Given the description of an element on the screen output the (x, y) to click on. 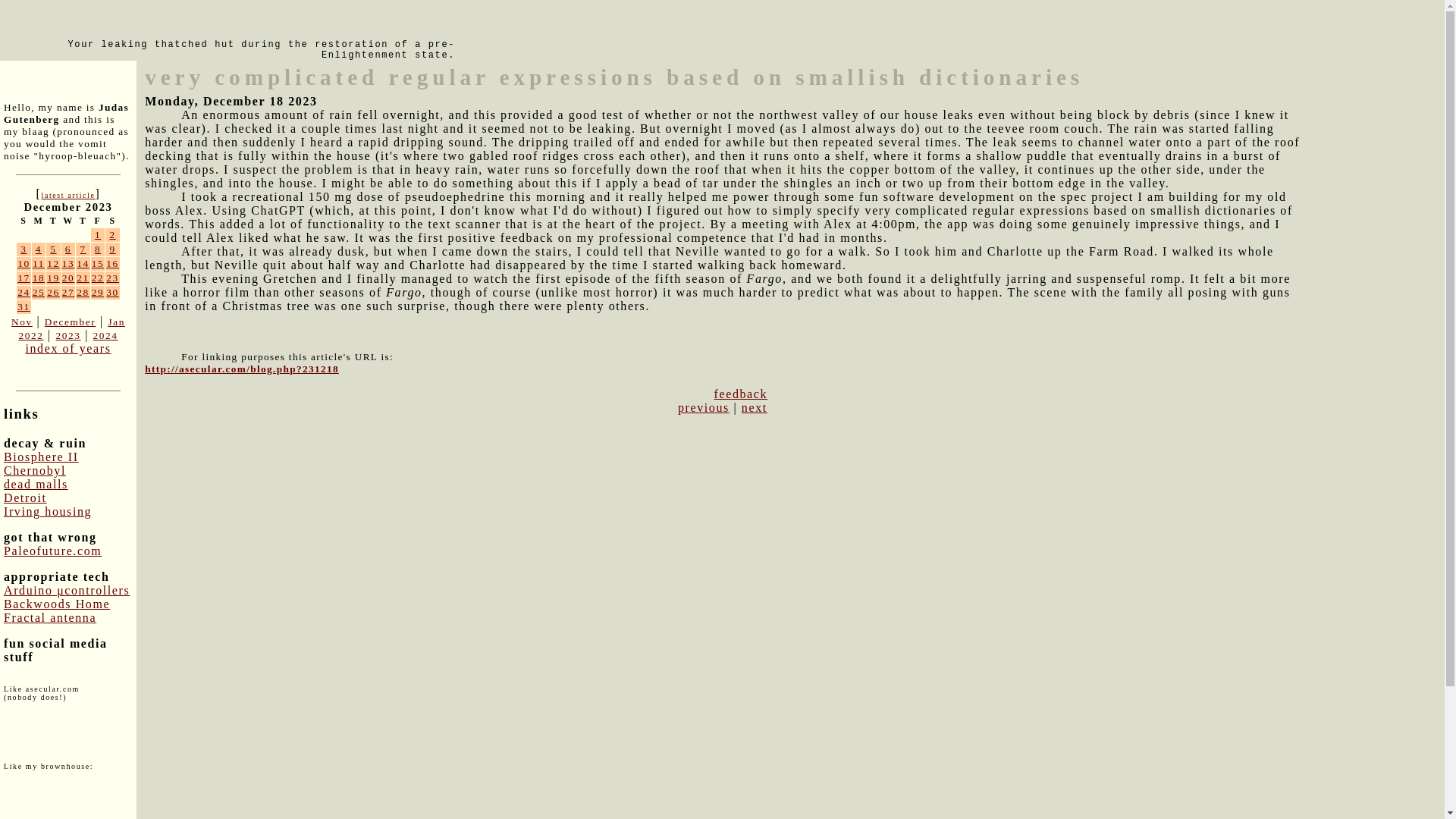
22 (97, 277)
17 (23, 277)
13 (68, 263)
24 (23, 292)
2024 (105, 335)
2022 (30, 335)
latest article (67, 194)
20 (68, 277)
31 (23, 306)
23 (112, 277)
